Given the description of an element on the screen output the (x, y) to click on. 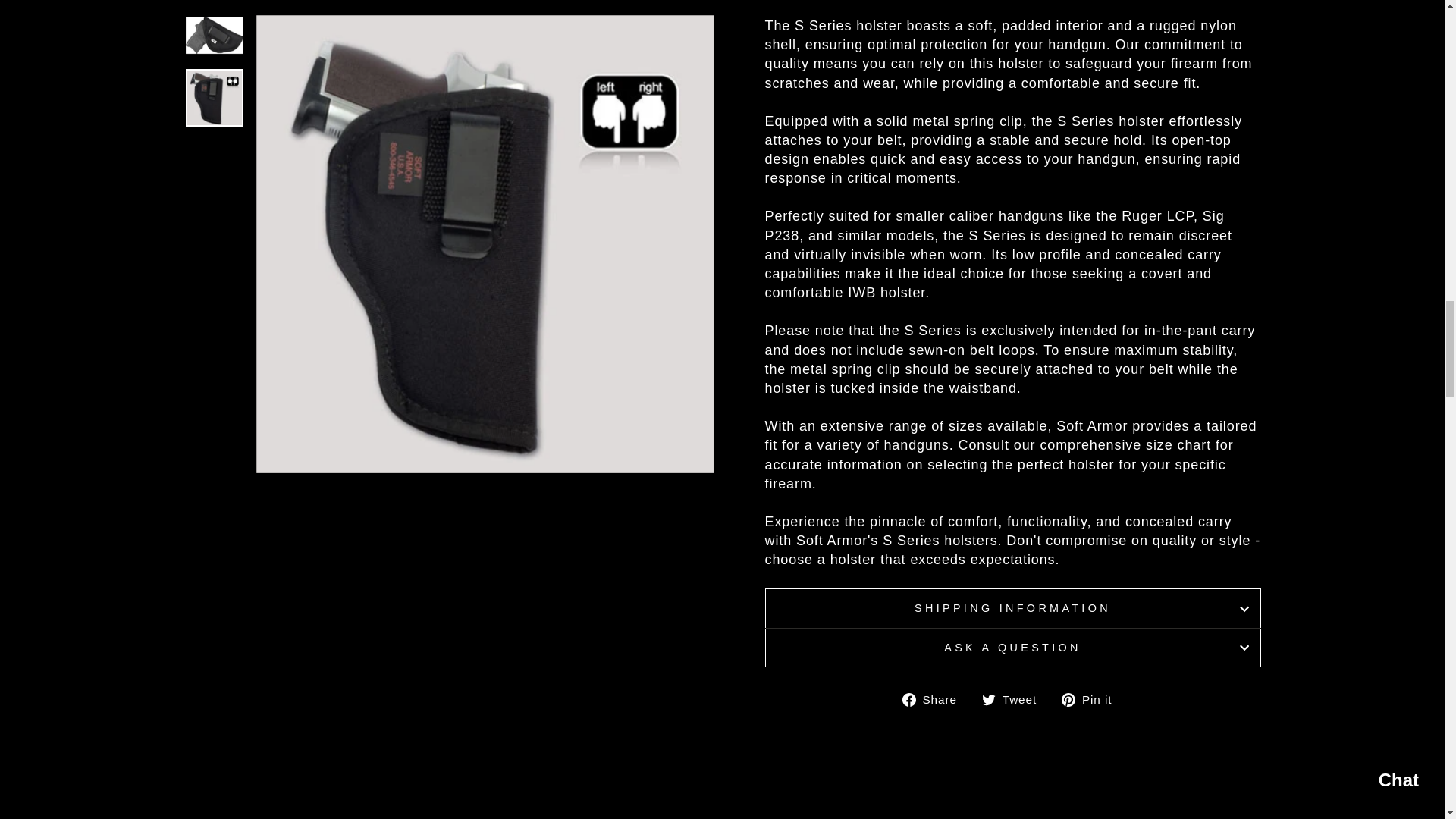
twitter (988, 699)
Share on Facebook (935, 699)
Tweet on Twitter (1014, 699)
Pin on Pinterest (1091, 699)
